Given the description of an element on the screen output the (x, y) to click on. 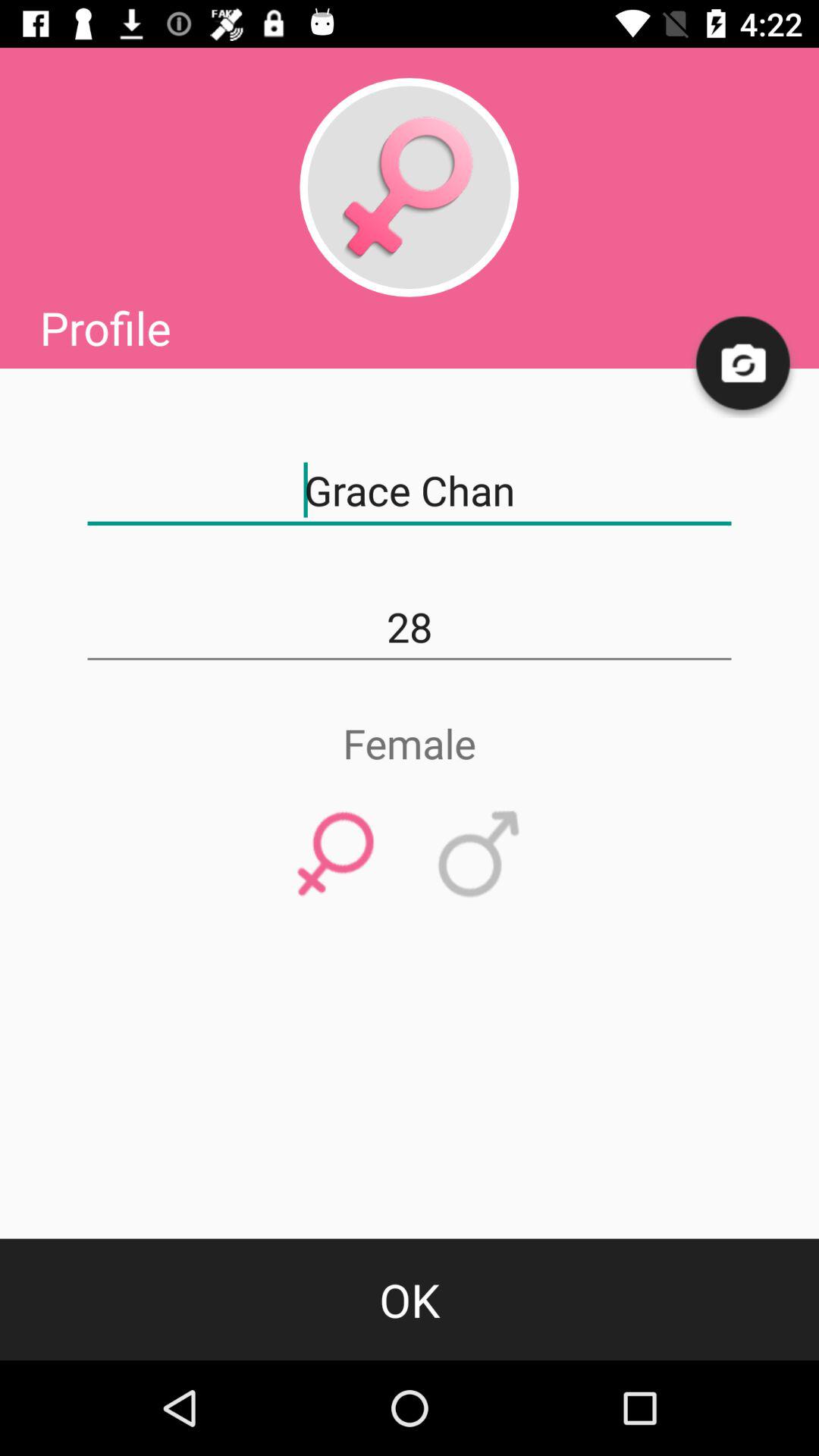
launch the grace chan (409, 490)
